Given the description of an element on the screen output the (x, y) to click on. 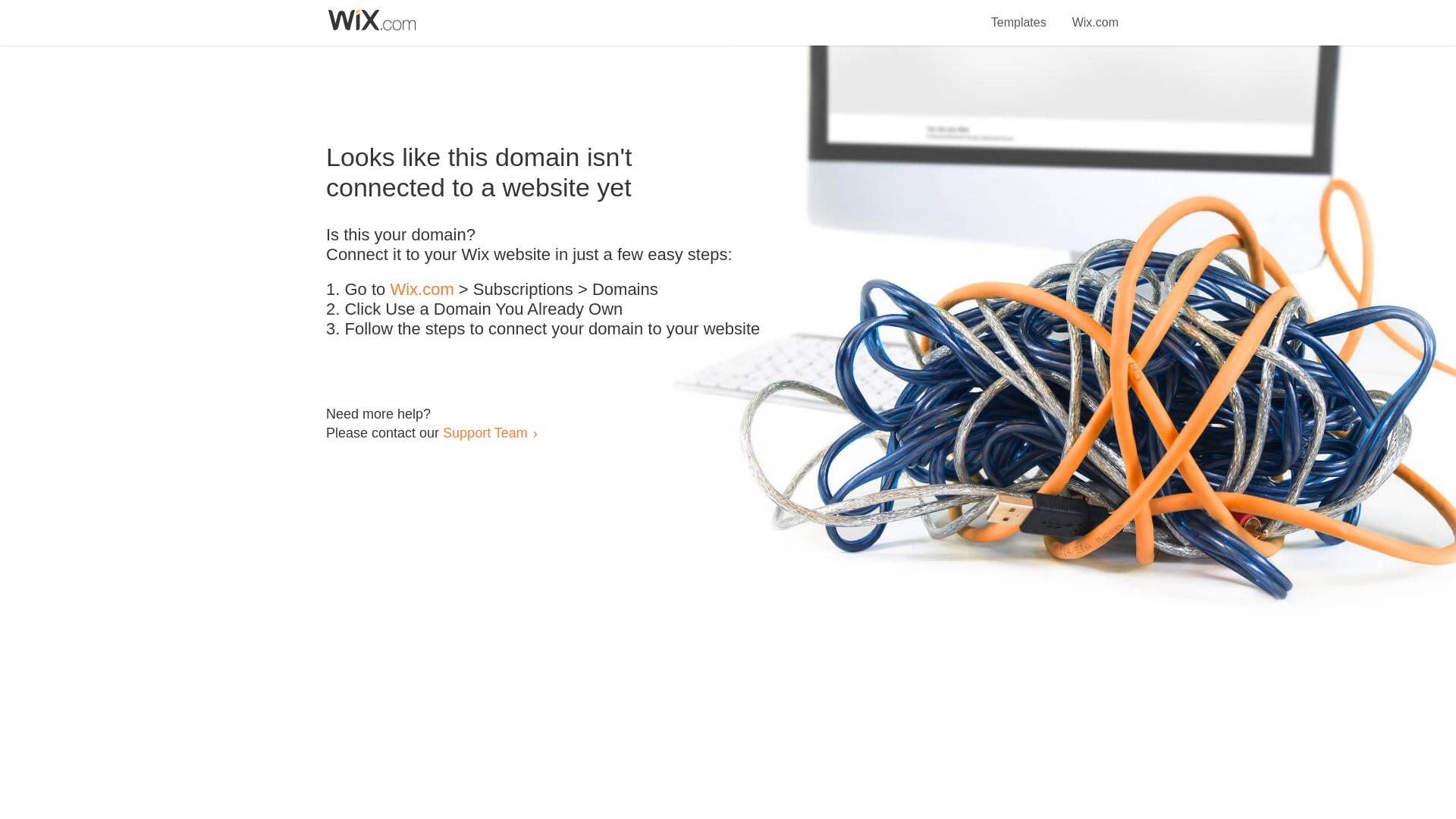
Support Team (484, 432)
Wix.com (1095, 14)
Wix.com (421, 289)
Templates (1018, 14)
